Given the description of an element on the screen output the (x, y) to click on. 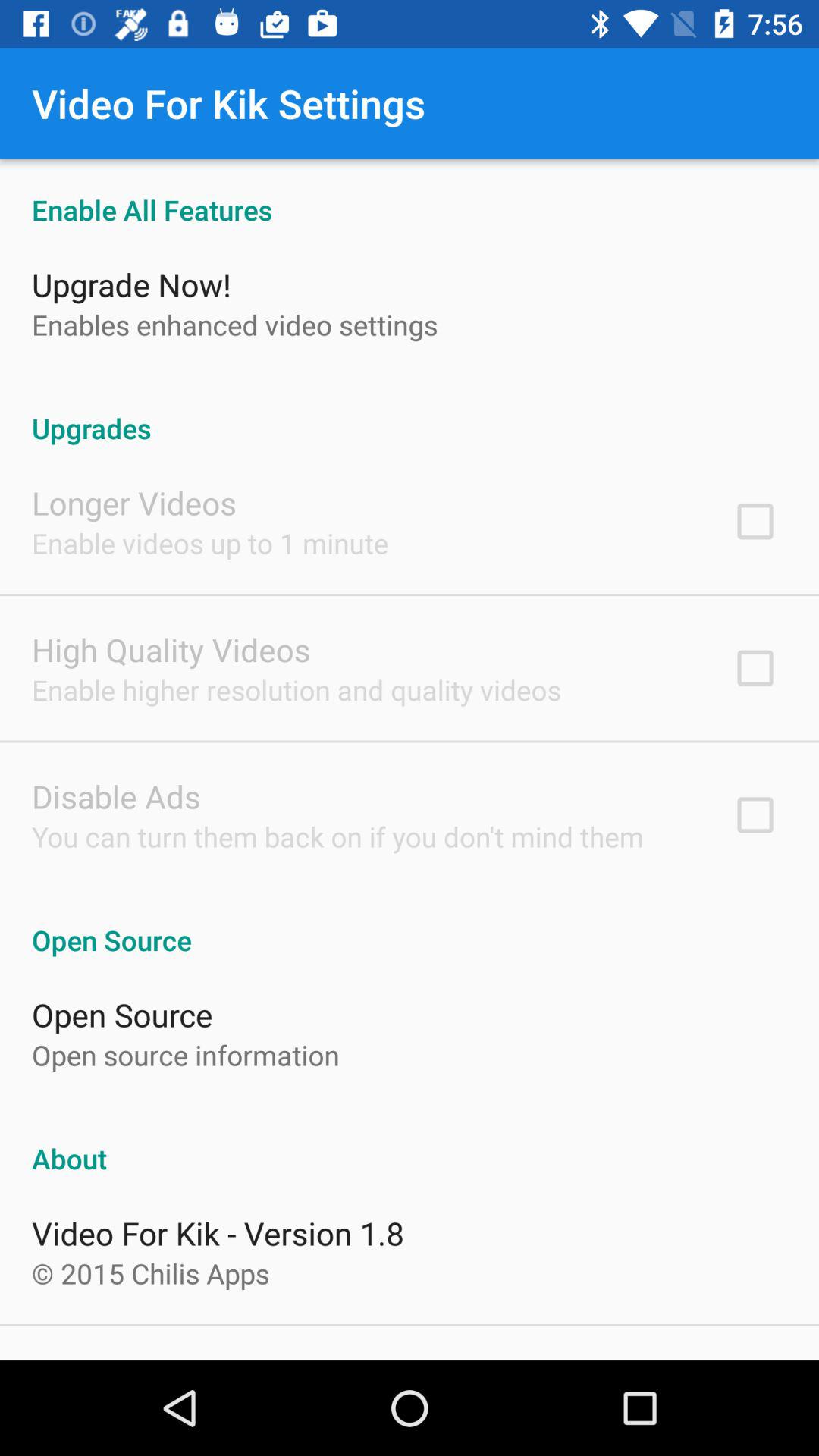
select the check box of high quality videos (755, 668)
click on the  first check box under upgrades (755, 521)
